Given the description of an element on the screen output the (x, y) to click on. 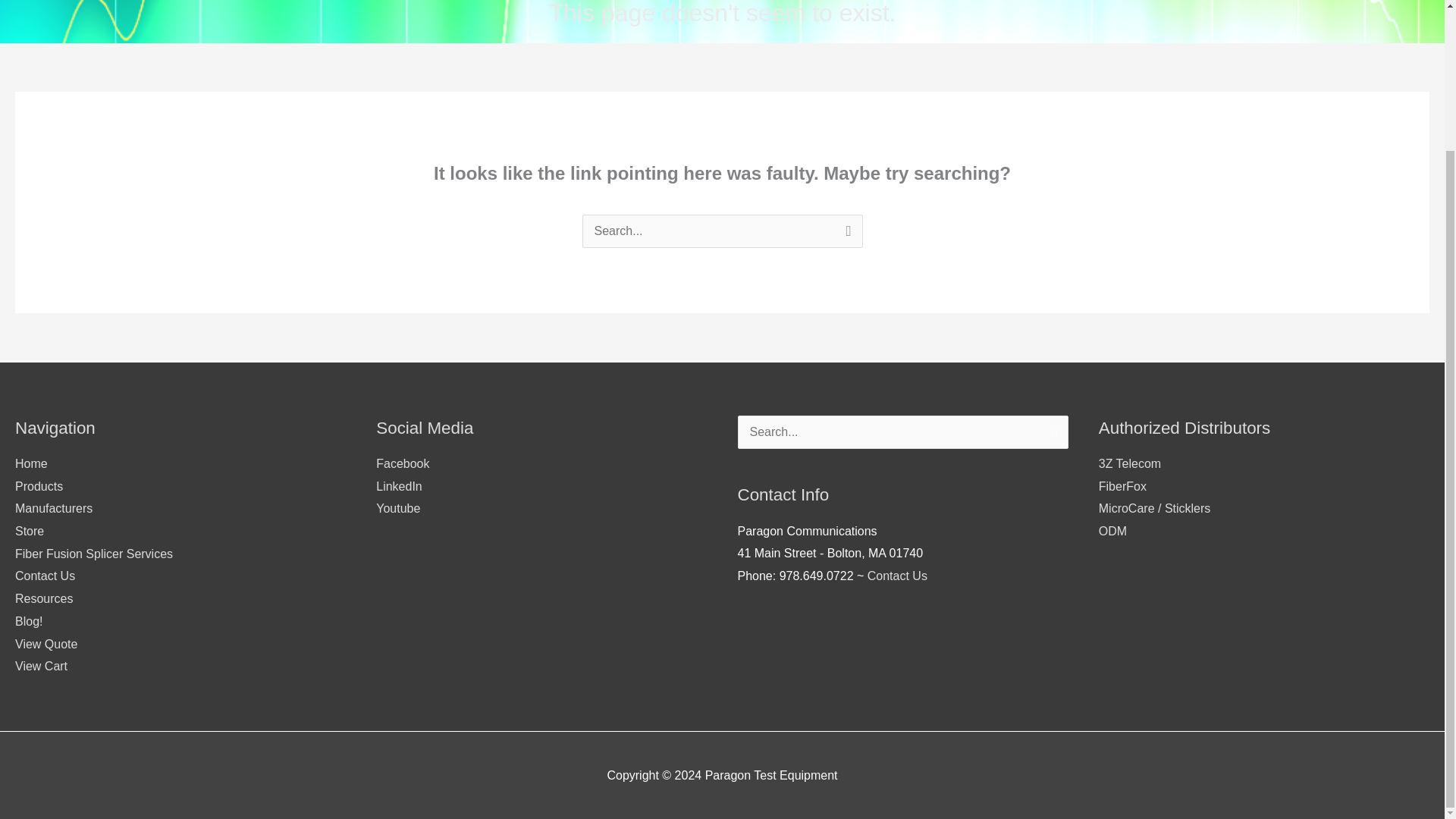
LinkedIn (398, 486)
Contact Us (44, 575)
View Quote (45, 644)
View Cart (40, 666)
3Z Telecom (1129, 463)
Products (38, 486)
Contact Us (897, 575)
Facebook (402, 463)
Store (28, 530)
Fiber Fusion Splicer Services (93, 553)
FiberFox (1123, 486)
Blog! (28, 621)
Youtube (397, 508)
Home (31, 463)
Resources (43, 598)
